Given the description of an element on the screen output the (x, y) to click on. 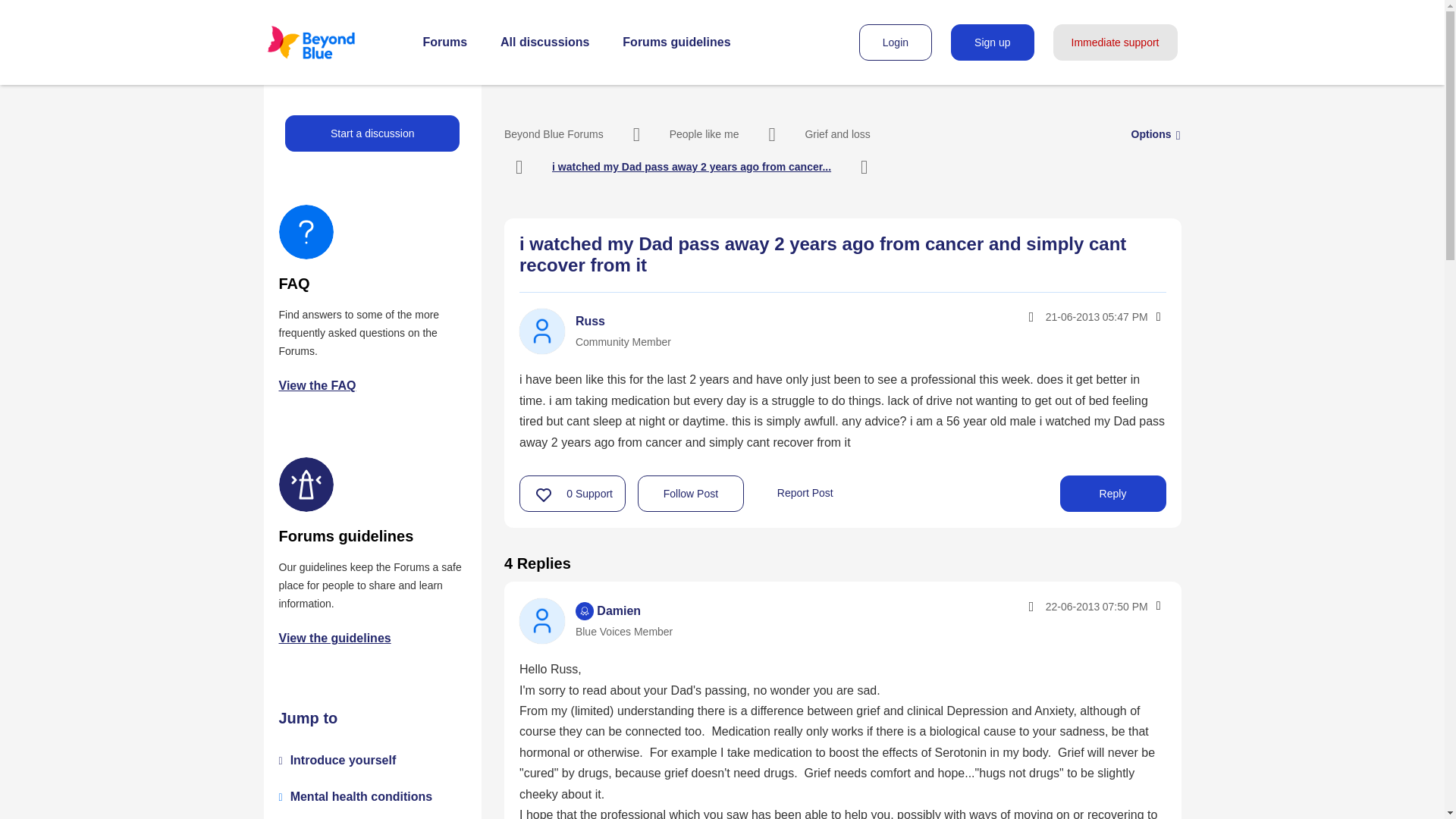
Options (1157, 316)
Russ (541, 330)
View the FAQ (317, 385)
Forums (445, 41)
Show option menu (1150, 133)
Damien (541, 620)
Blue Voices Member (584, 610)
Options (1150, 133)
Beyond Blue Forums (553, 133)
Introduce yourself (342, 759)
Show option menu (1157, 605)
Show option menu (1157, 316)
View the guidelines (335, 637)
Posted on (1063, 606)
Russ (590, 320)
